Given the description of an element on the screen output the (x, y) to click on. 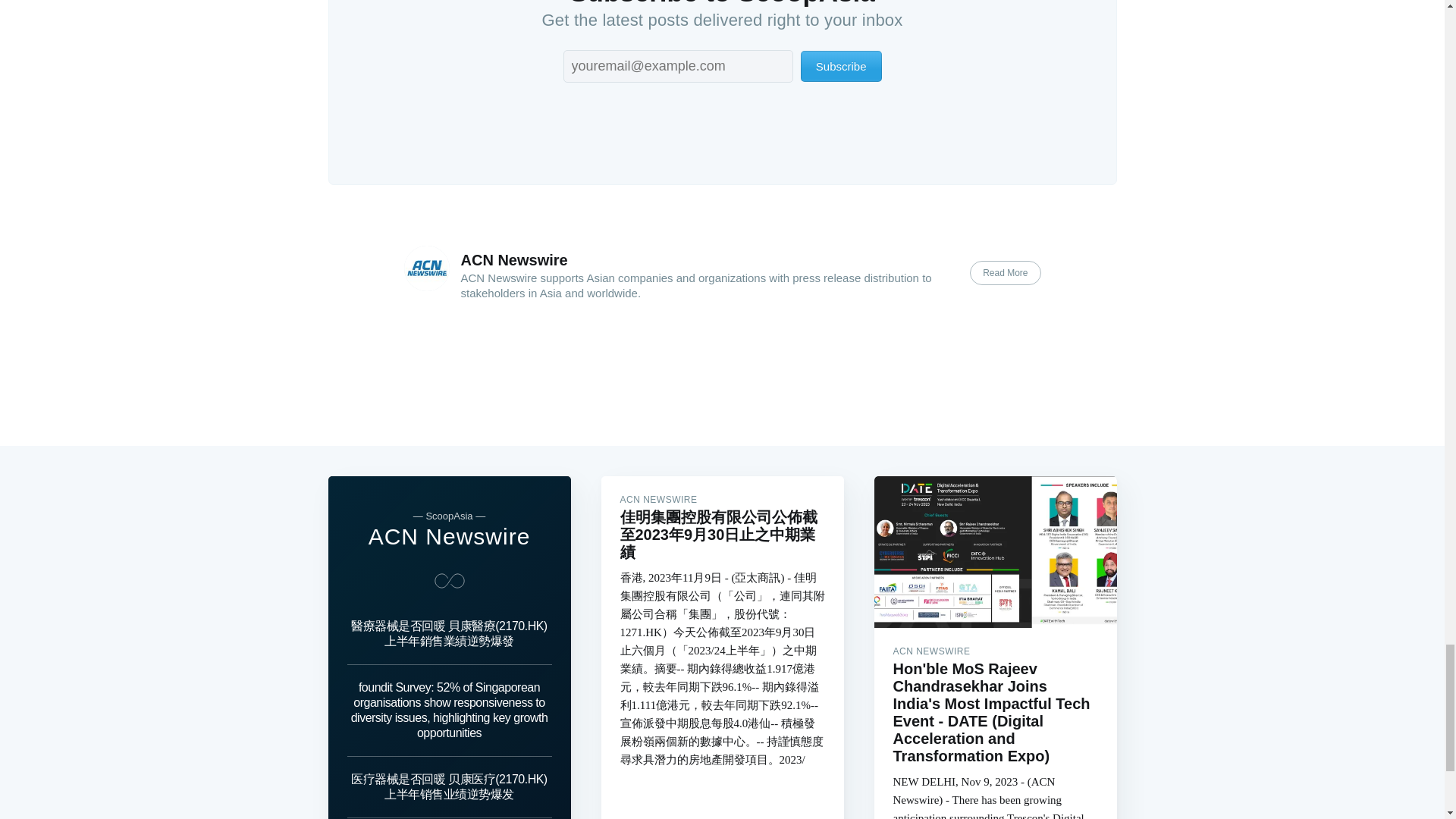
Subscribe (841, 65)
ACN Newswire (449, 536)
ACN Newswire (514, 259)
Read More (1005, 273)
